Given the description of an element on the screen output the (x, y) to click on. 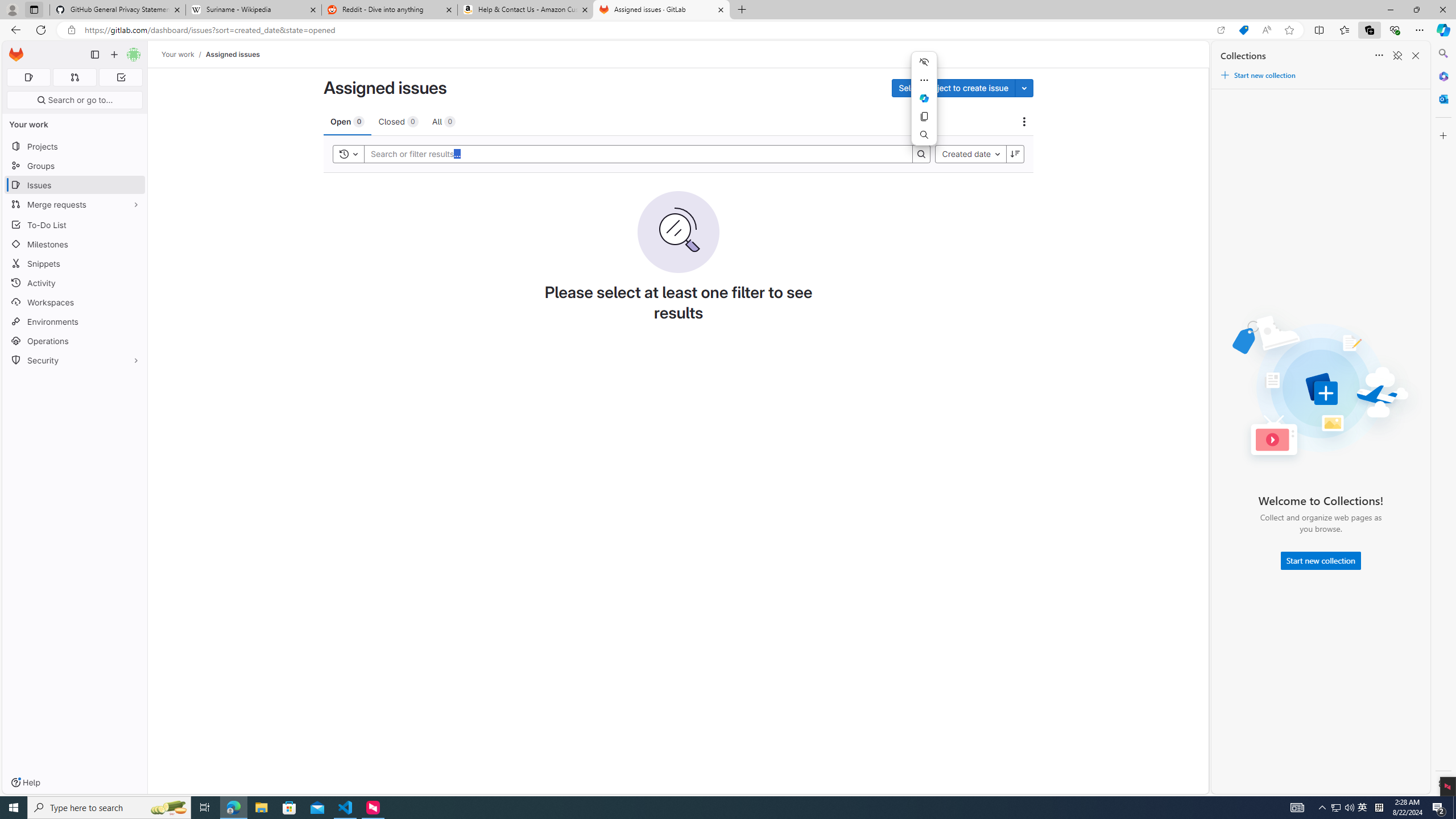
Issues (74, 185)
Merge requests (74, 203)
Operations (74, 340)
Created date (970, 153)
Operations (74, 340)
Projects (74, 145)
Groups (74, 165)
Mini menu on text selection (923, 97)
